Given the description of an element on the screen output the (x, y) to click on. 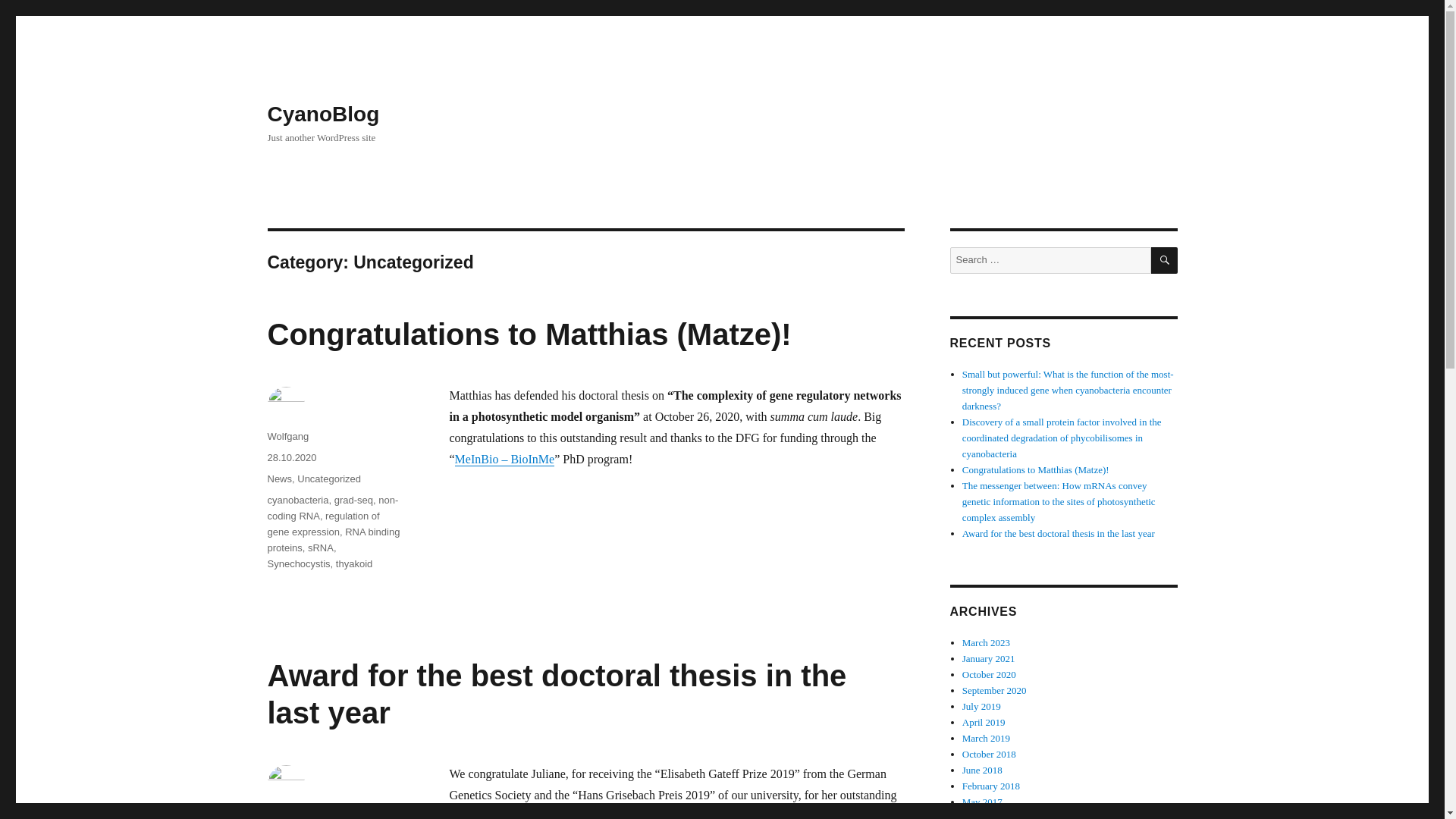
Award for the best doctoral thesis in the last year (555, 694)
cyanobacteria (297, 500)
thyakoid (354, 563)
28.10.2020 (290, 457)
regulation of gene expression (322, 523)
CyanoBlog (322, 114)
News (279, 478)
Wolfgang (287, 436)
Wolfgang (287, 814)
sRNA (320, 547)
